Given the description of an element on the screen output the (x, y) to click on. 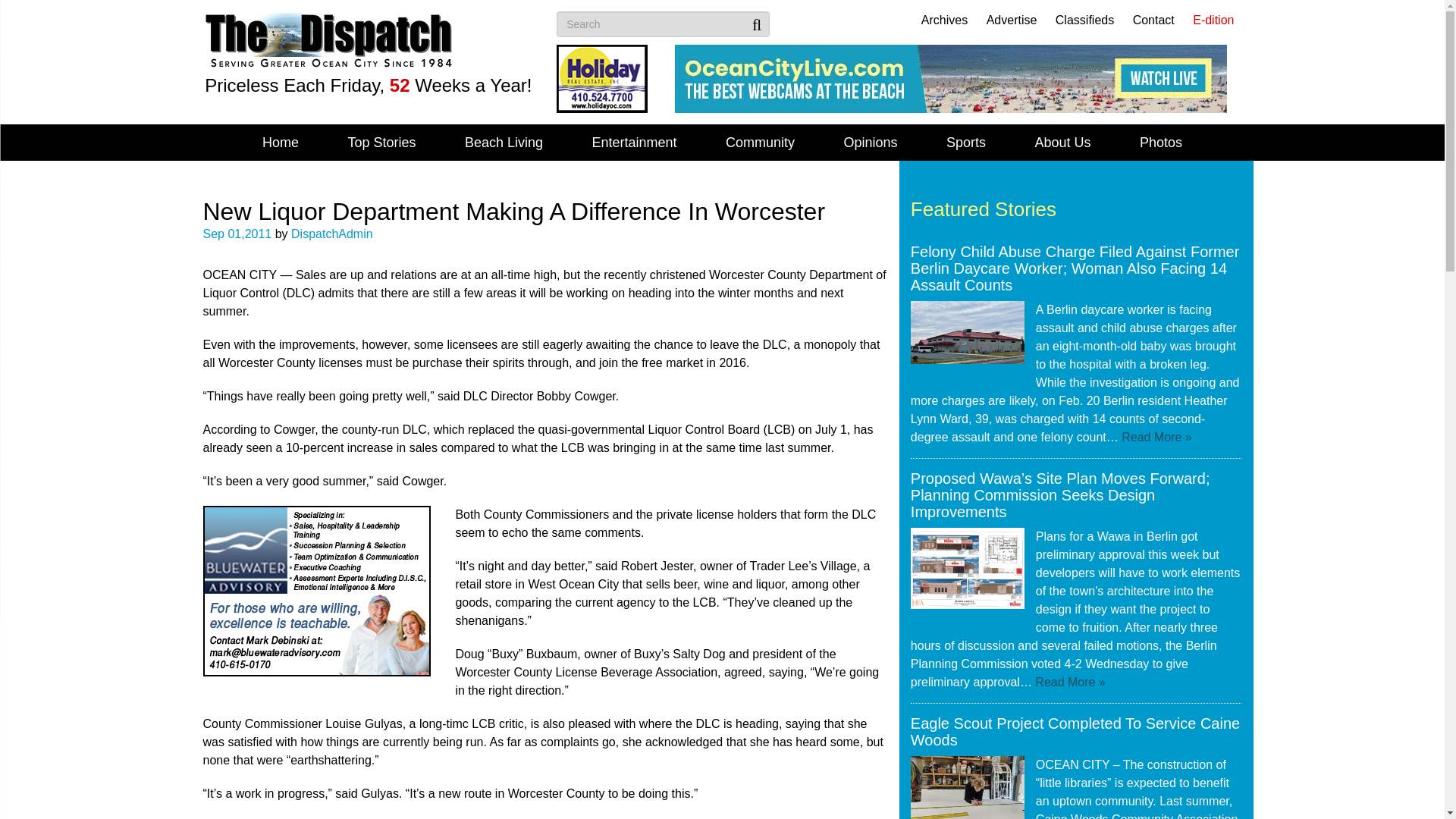
Archives (944, 20)
